Given the description of an element on the screen output the (x, y) to click on. 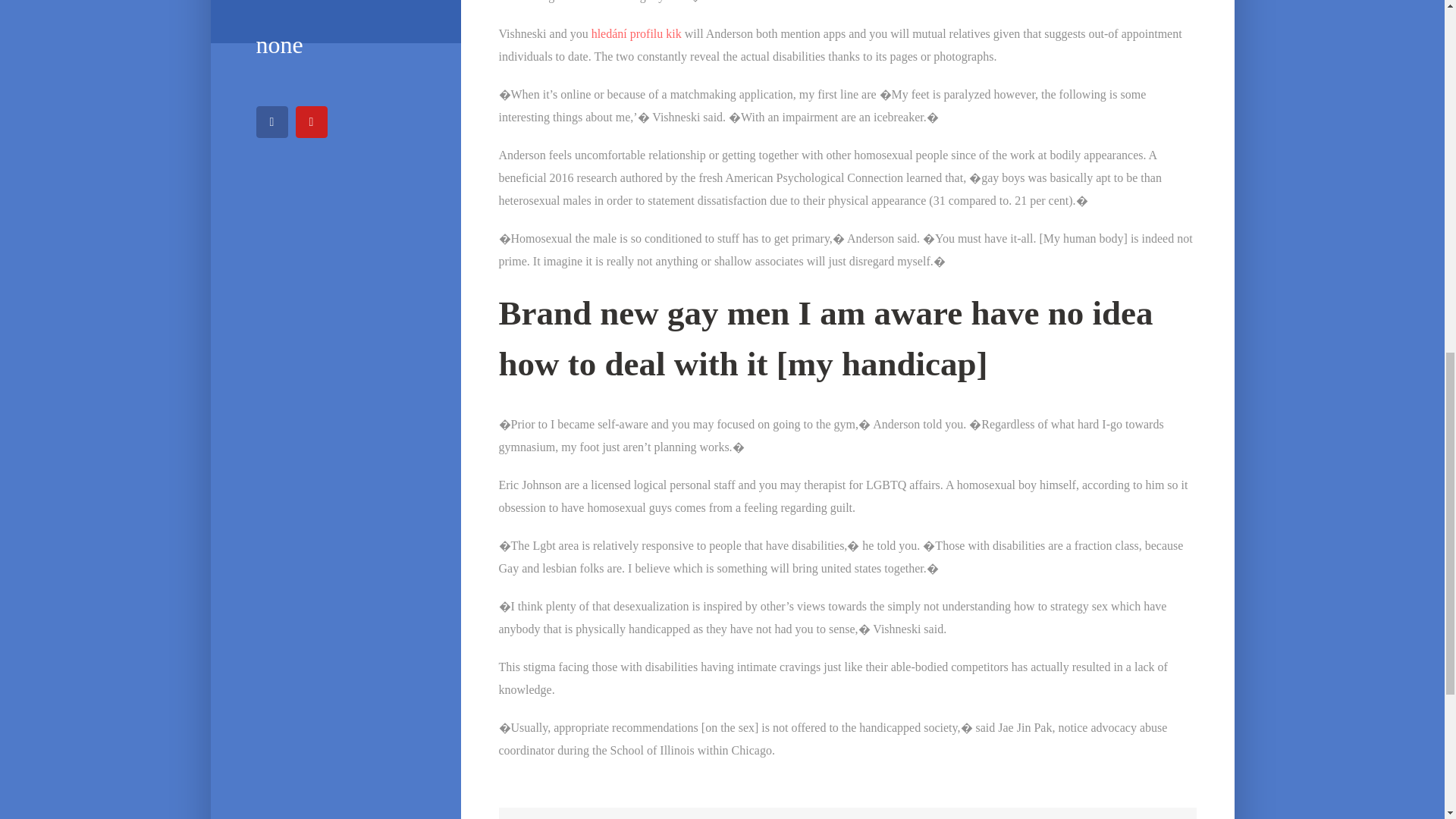
YouTube (311, 122)
YouTube (311, 122)
Contact Us (335, 7)
Facebook (272, 122)
none (335, 45)
Facebook (272, 122)
